Given the description of an element on the screen output the (x, y) to click on. 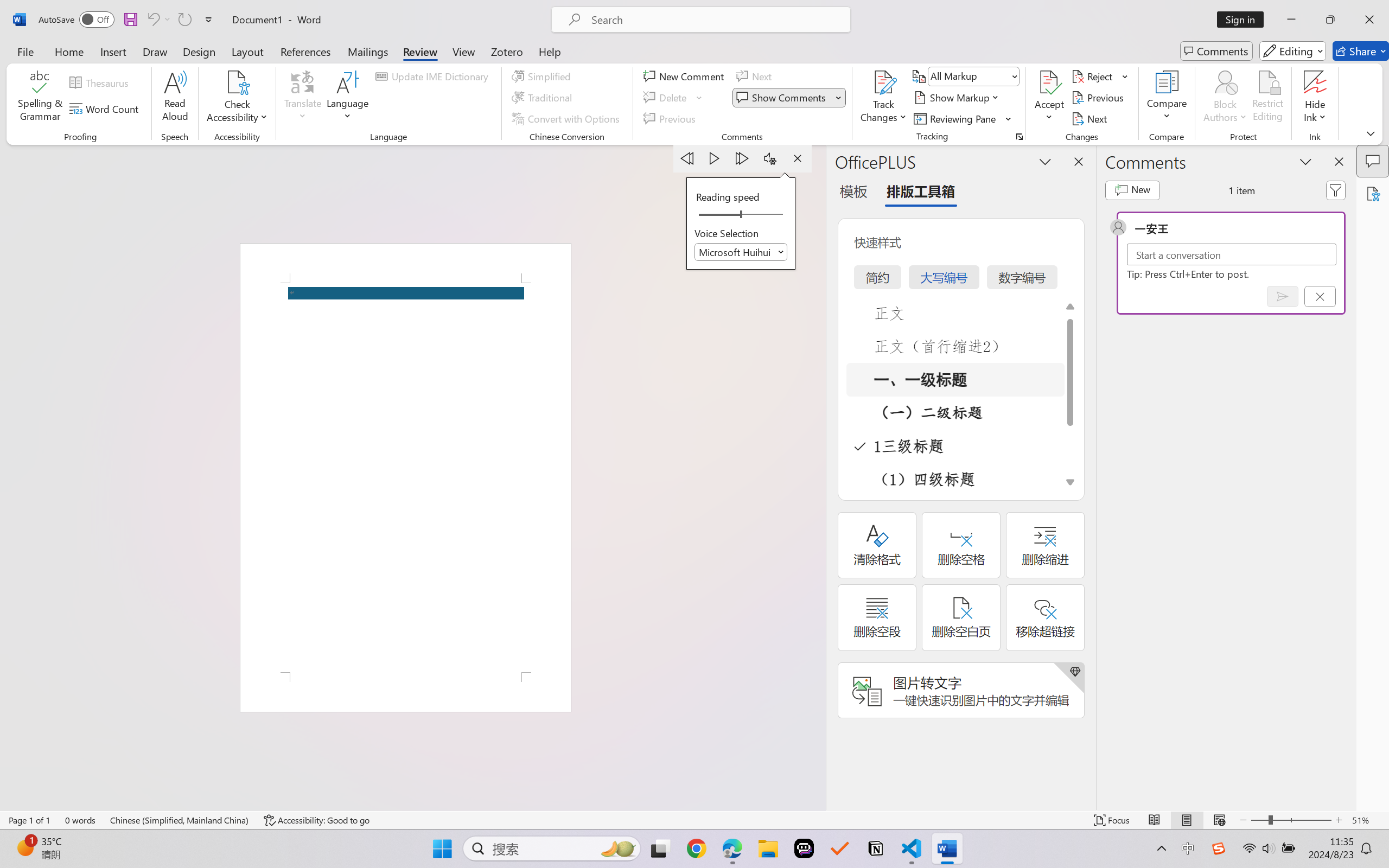
Block Authors (1224, 97)
Block Authors (1224, 81)
Settings (770, 158)
Simplified (542, 75)
Accept and Move to Next (1049, 81)
Show Comments (788, 97)
Restrict Editing (1267, 97)
Undo Apply Quick Style Set (158, 19)
